Given the description of an element on the screen output the (x, y) to click on. 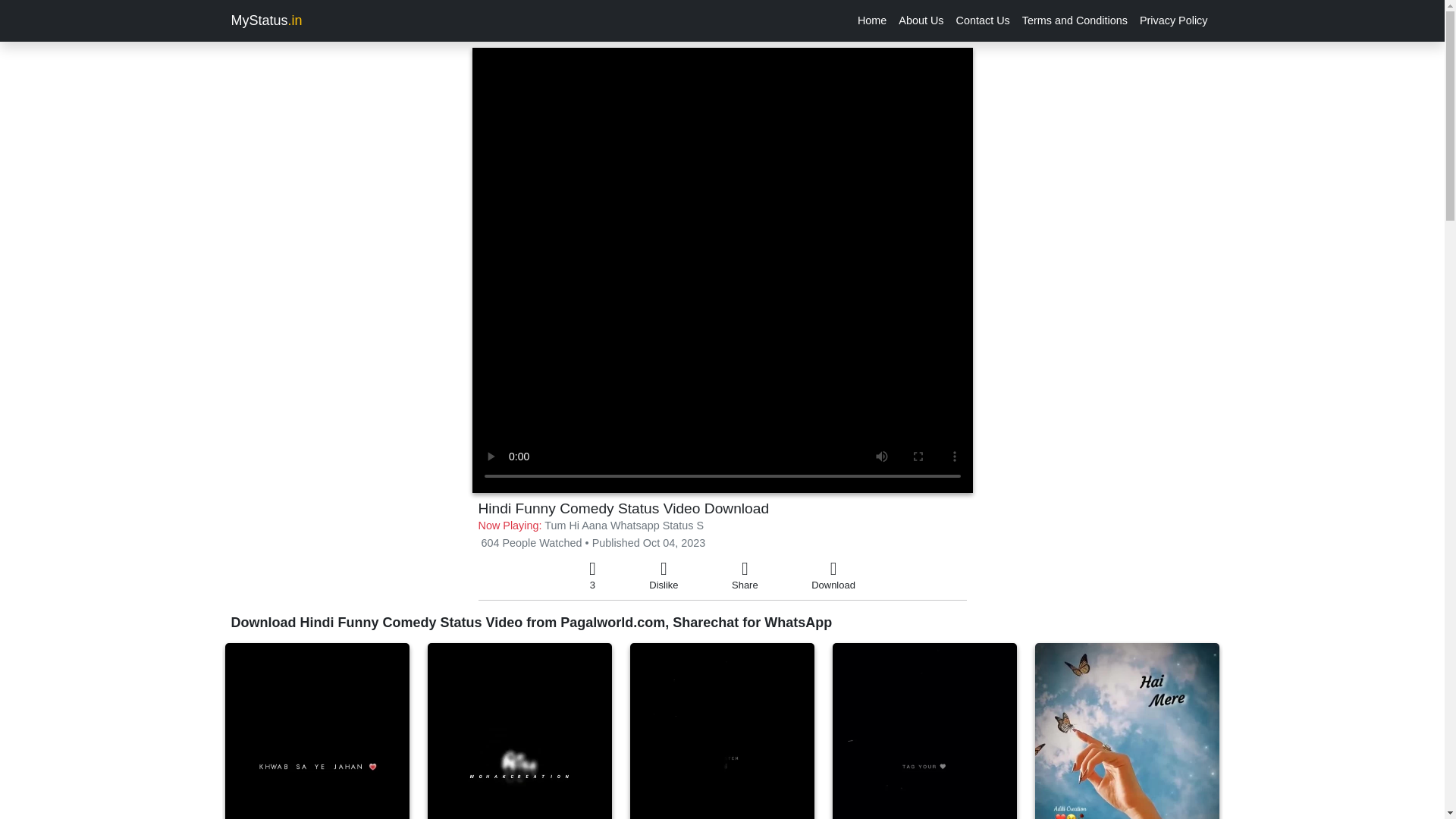
Dislike (663, 576)
Contact Us (983, 20)
Terms and Conditions (1075, 20)
MyStatus.in (265, 20)
Share (744, 576)
Download (833, 576)
Home (871, 20)
Privacy Policy (1174, 20)
3 (592, 576)
About Us (920, 20)
